Given the description of an element on the screen output the (x, y) to click on. 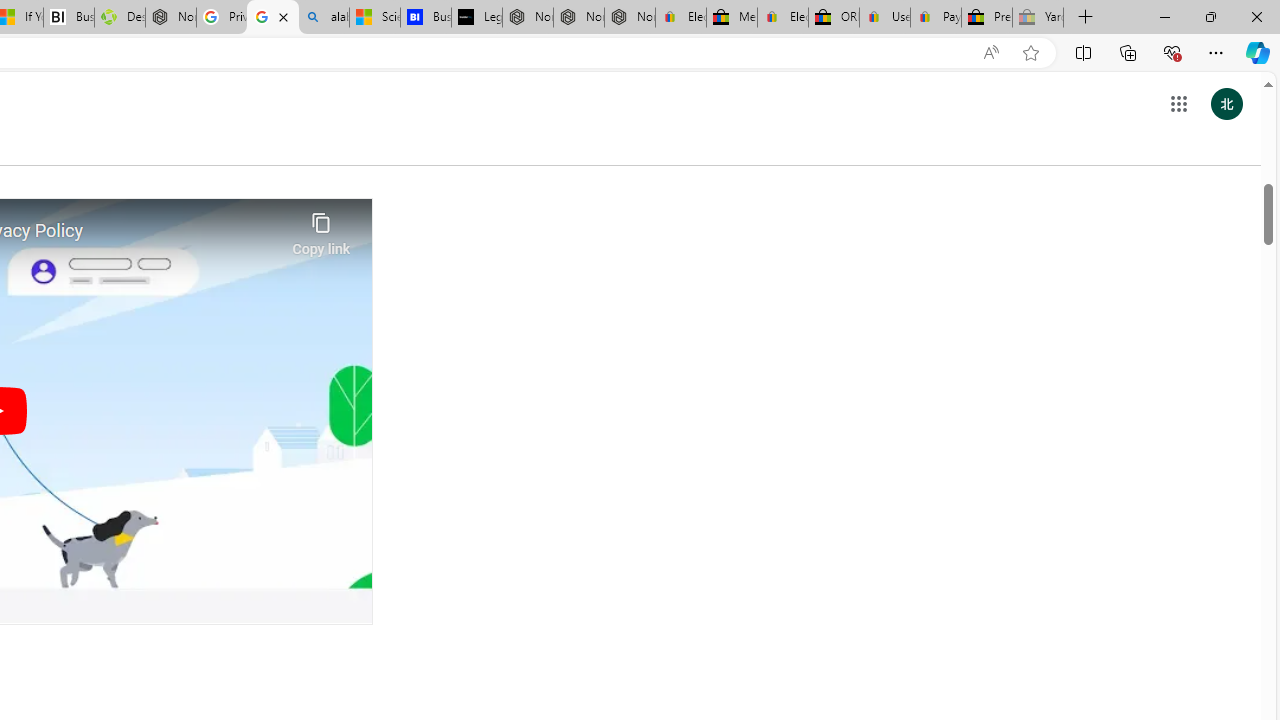
Yard, Garden & Outdoor Living - Sleeping (1037, 17)
alabama high school quarterback dies - Search (324, 17)
Press Room - eBay Inc. (987, 17)
Payments Terms of Use | eBay.com (936, 17)
Nordace - My Account (170, 17)
